Given the description of an element on the screen output the (x, y) to click on. 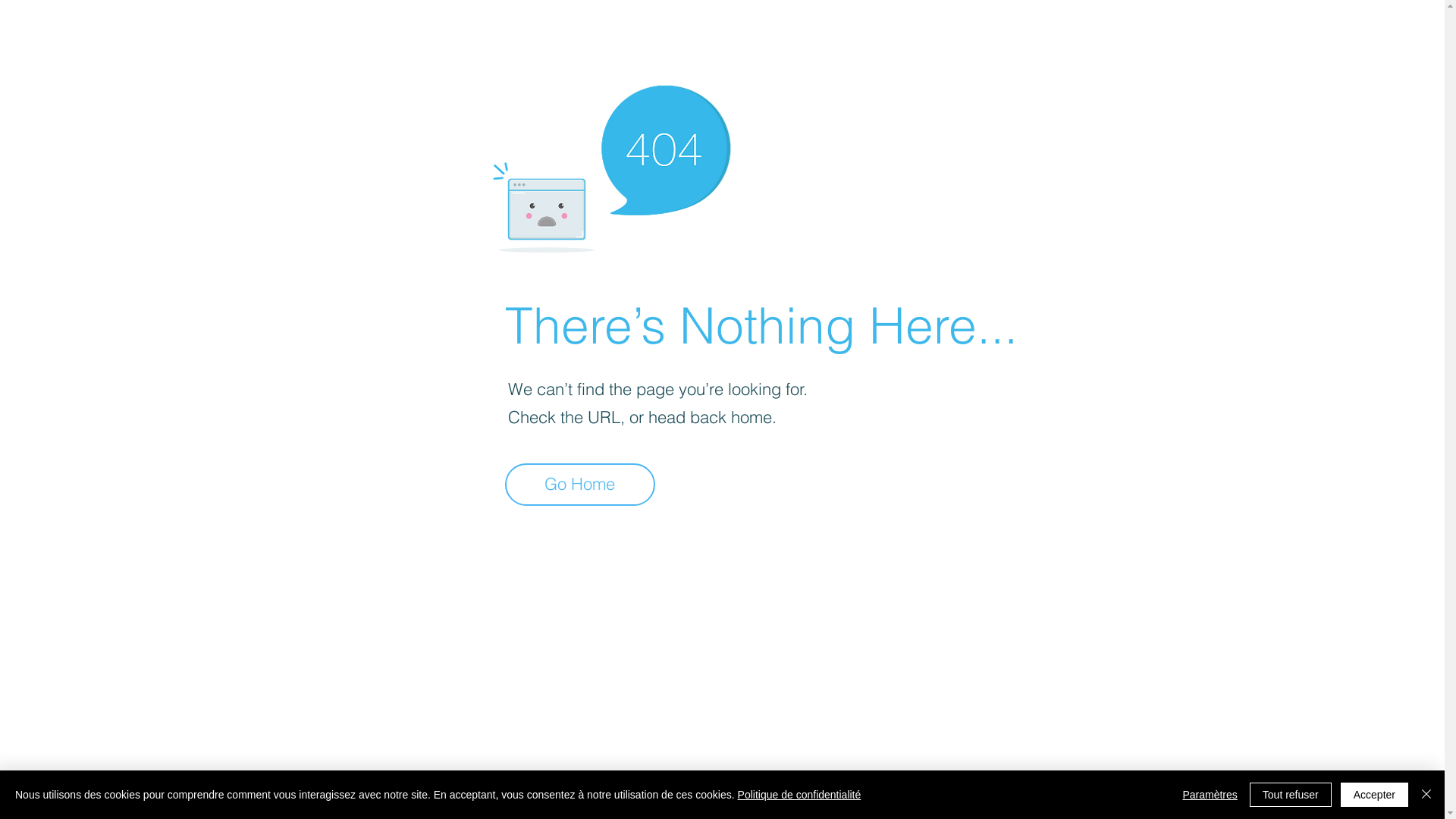
404-icon_2.png Element type: hover (610, 164)
Accepter Element type: text (1374, 794)
Tout refuser Element type: text (1290, 794)
Go Home Element type: text (580, 484)
